Given the description of an element on the screen output the (x, y) to click on. 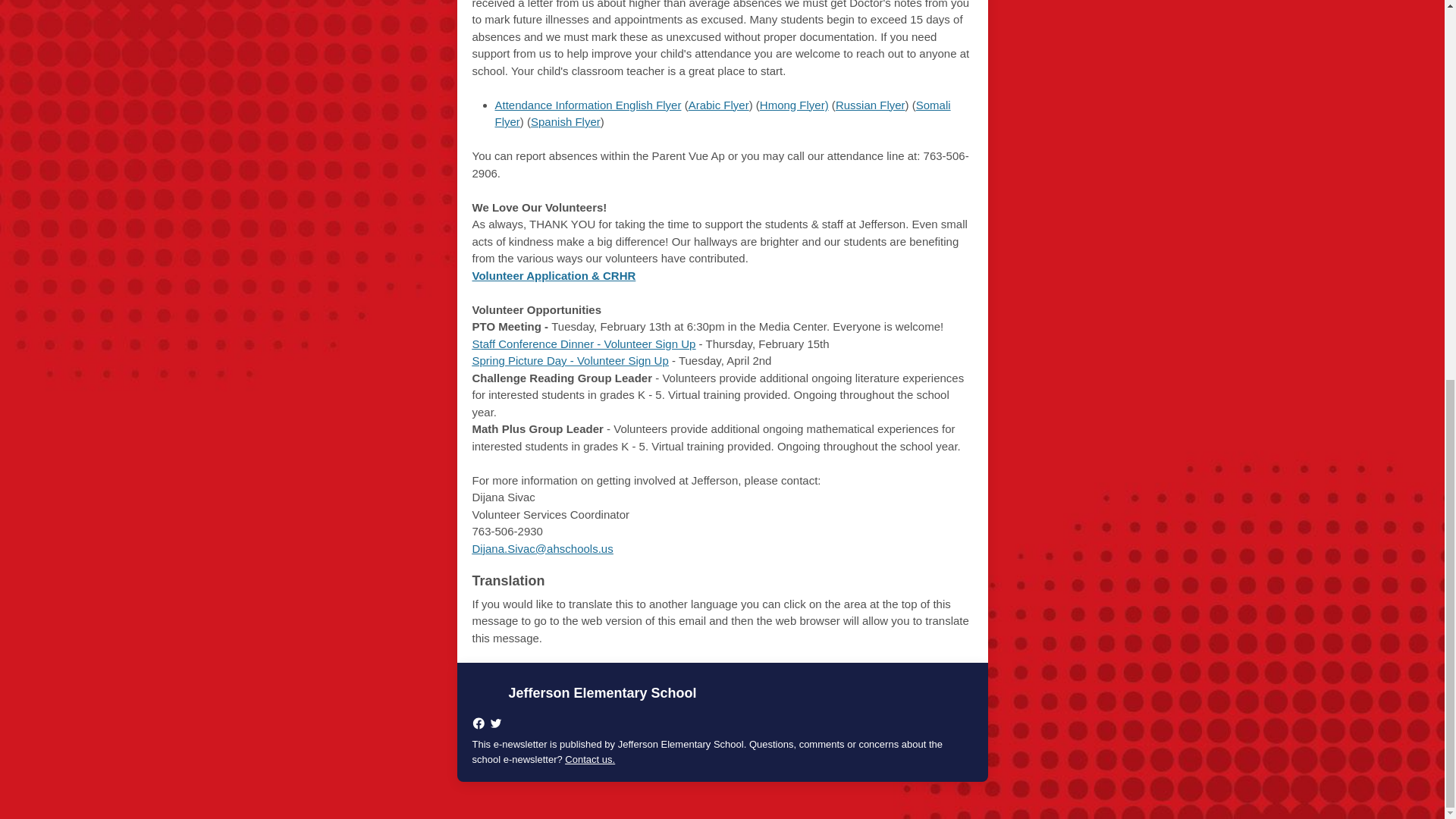
Attendance Information English Flyer (588, 104)
Signature facebook (477, 722)
Spanish Flyer (565, 121)
Arabic Flyer (718, 104)
Signature twitter (494, 722)
Staff Conference Dinner - Volunteer Sign Up (583, 342)
Spring Picture Day - Volunteer Sign Up (569, 359)
Somali Flyer (722, 113)
Contact us. (589, 758)
Russian Flyer (870, 104)
